Given the description of an element on the screen output the (x, y) to click on. 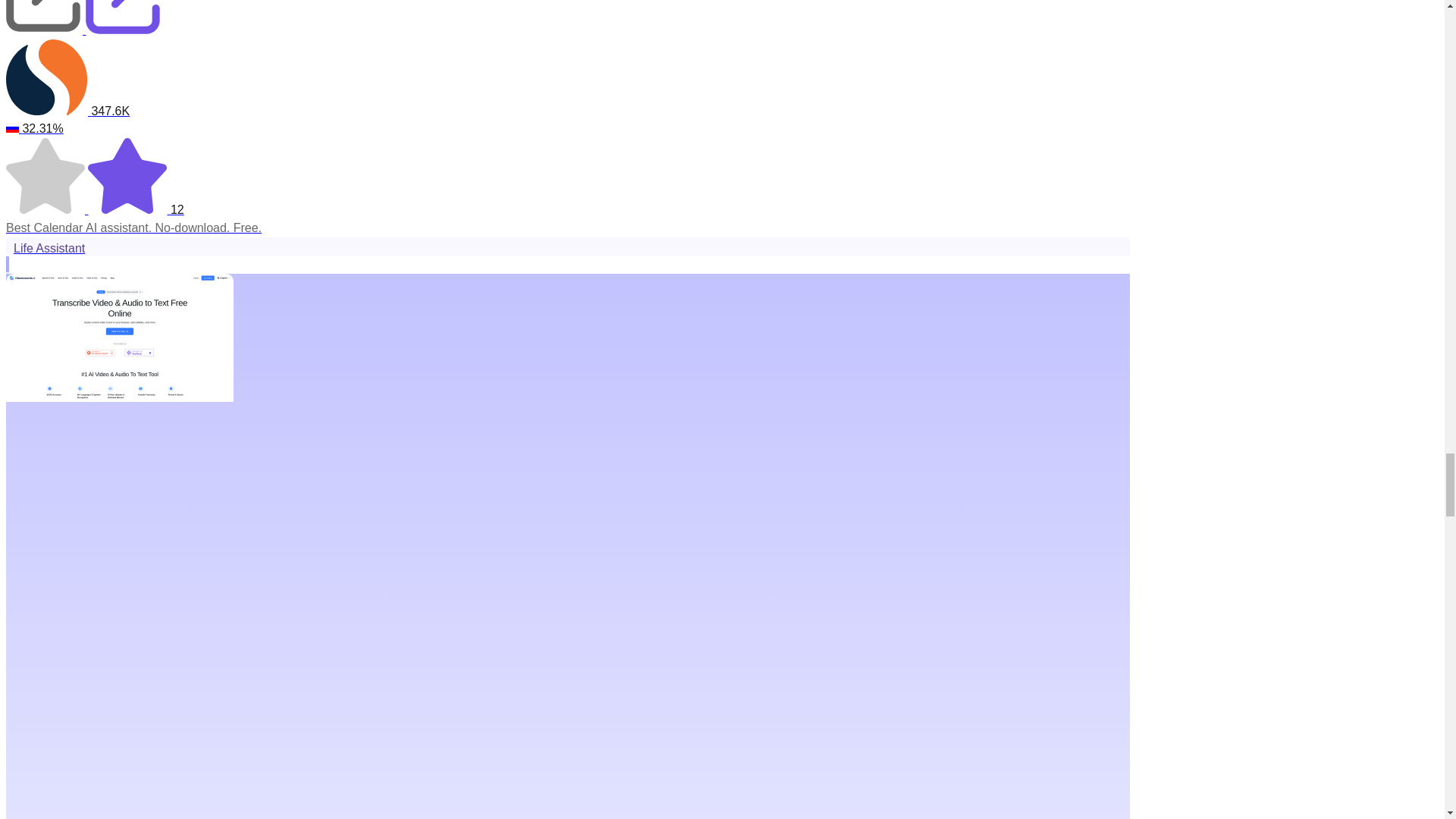
Advanced AI-powered photo editing software. (567, 228)
Monthly Visits (567, 79)
